Given the description of an element on the screen output the (x, y) to click on. 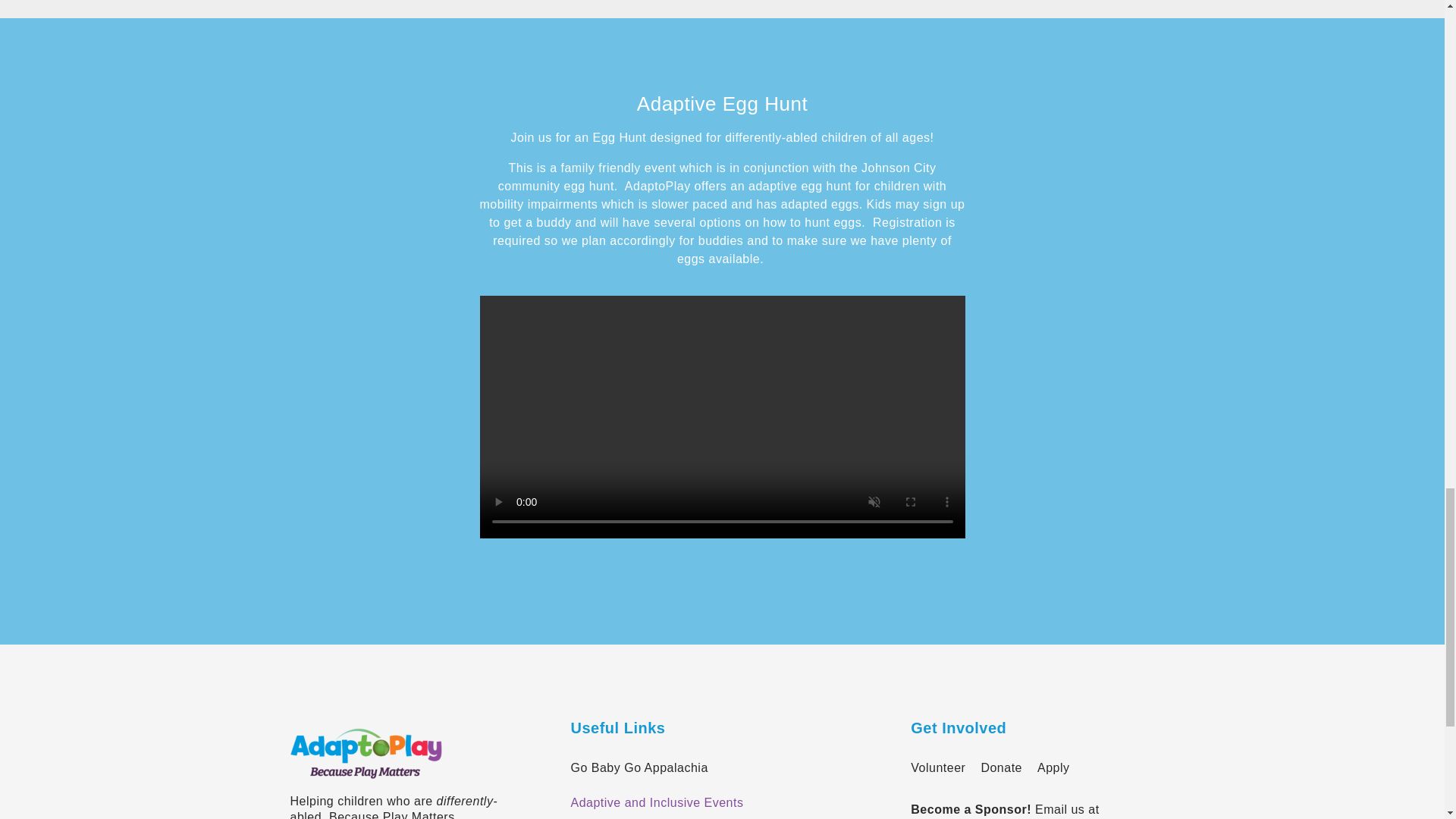
Apply (1053, 768)
Go Baby Go Appalachia (719, 768)
Adaptive and Inclusive Events (719, 802)
Volunteer (938, 768)
Donate (1000, 768)
